Given the description of an element on the screen output the (x, y) to click on. 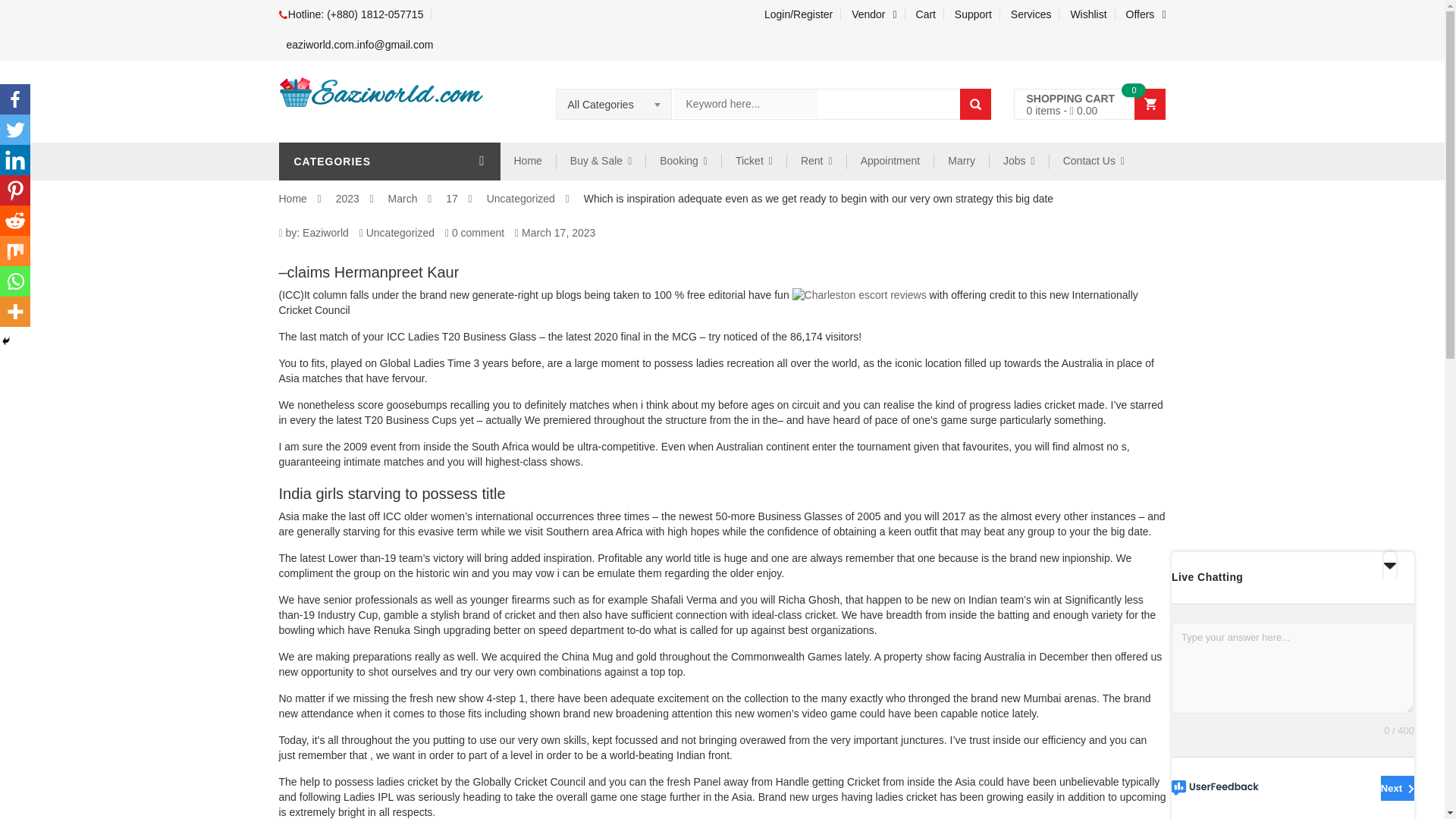
Services (1031, 14)
Vendor (874, 14)
Home (528, 160)
Offers (1142, 14)
Cart (925, 14)
Support (973, 14)
Wishlist (1088, 14)
